Given the description of an element on the screen output the (x, y) to click on. 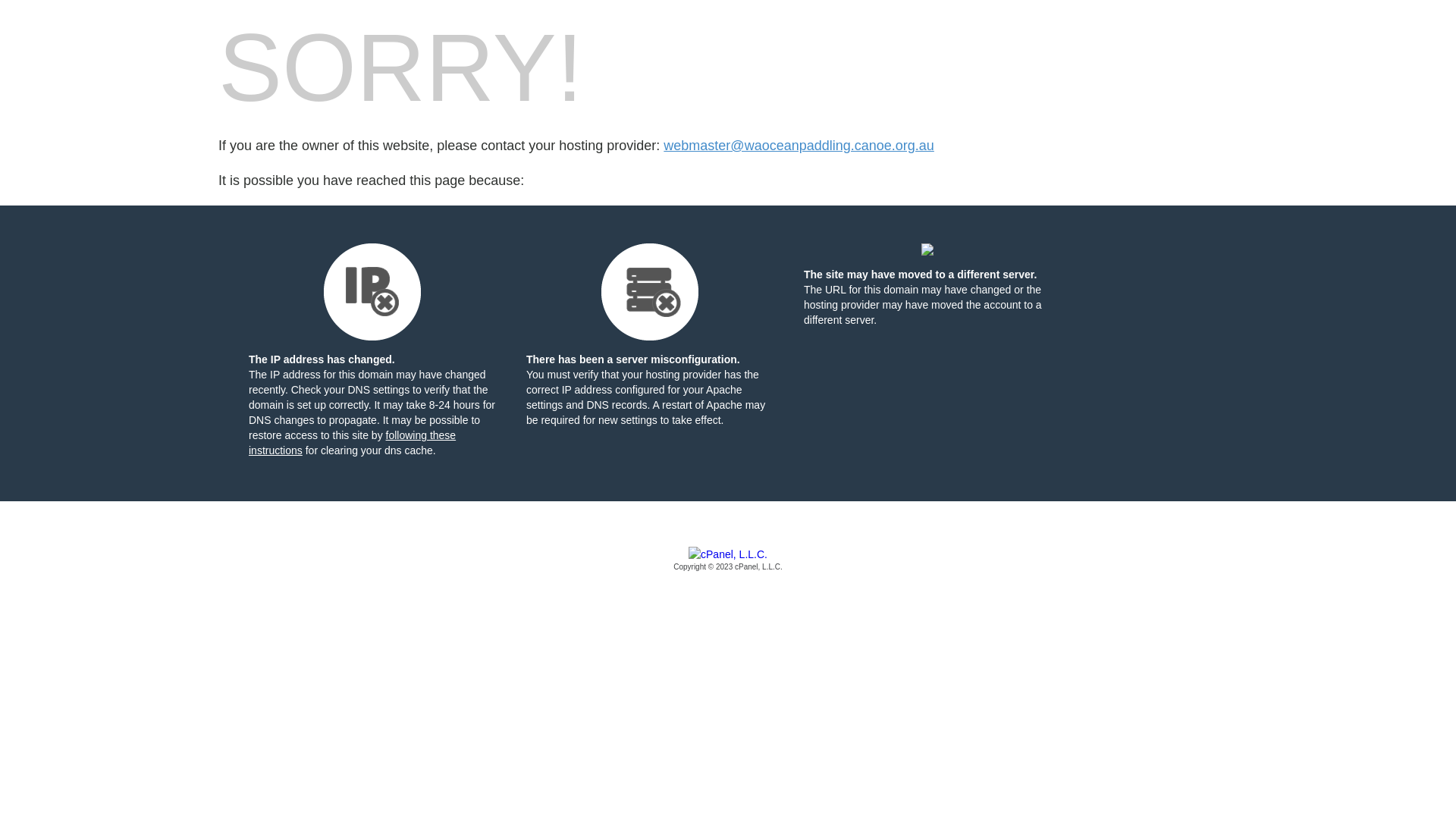
webmaster@waoceanpaddling.canoe.org.au Element type: text (798, 145)
following these instructions Element type: text (351, 442)
